Given the description of an element on the screen output the (x, y) to click on. 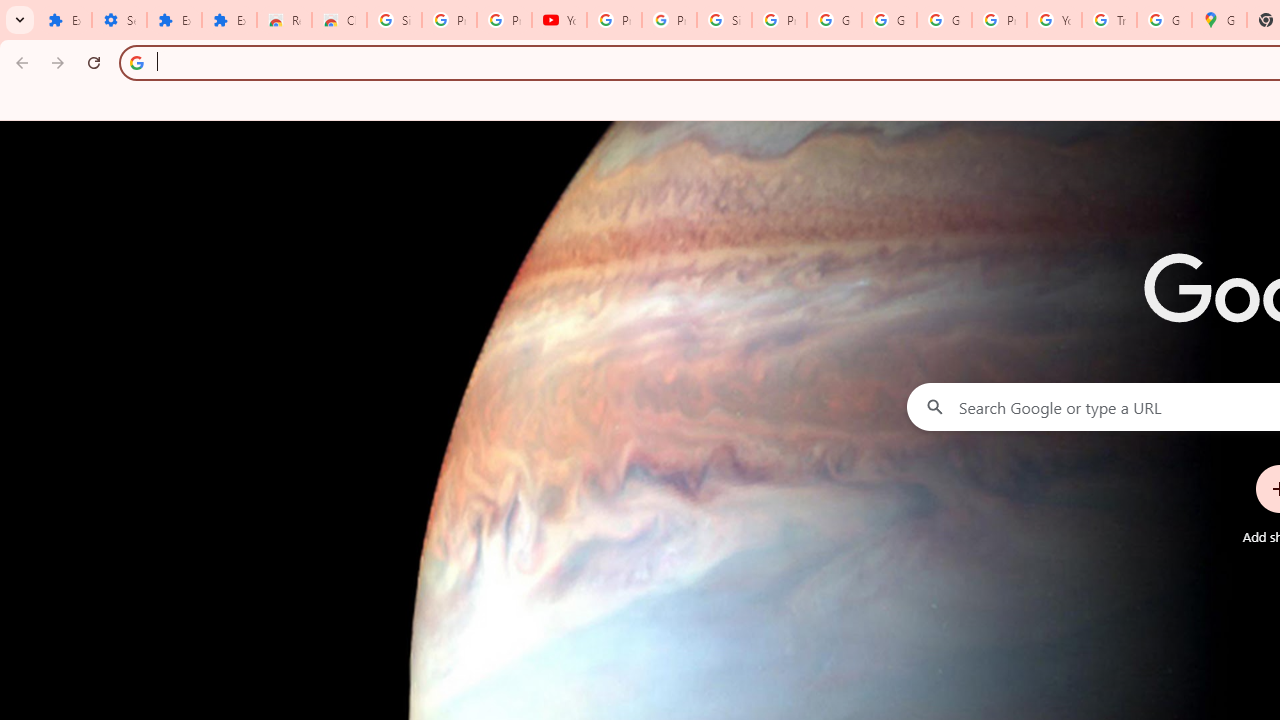
Reviews: Helix Fruit Jump Arcade Game (284, 20)
Chrome Web Store - Themes (339, 20)
Extensions (174, 20)
Sign in - Google Accounts (724, 20)
